Given the description of an element on the screen output the (x, y) to click on. 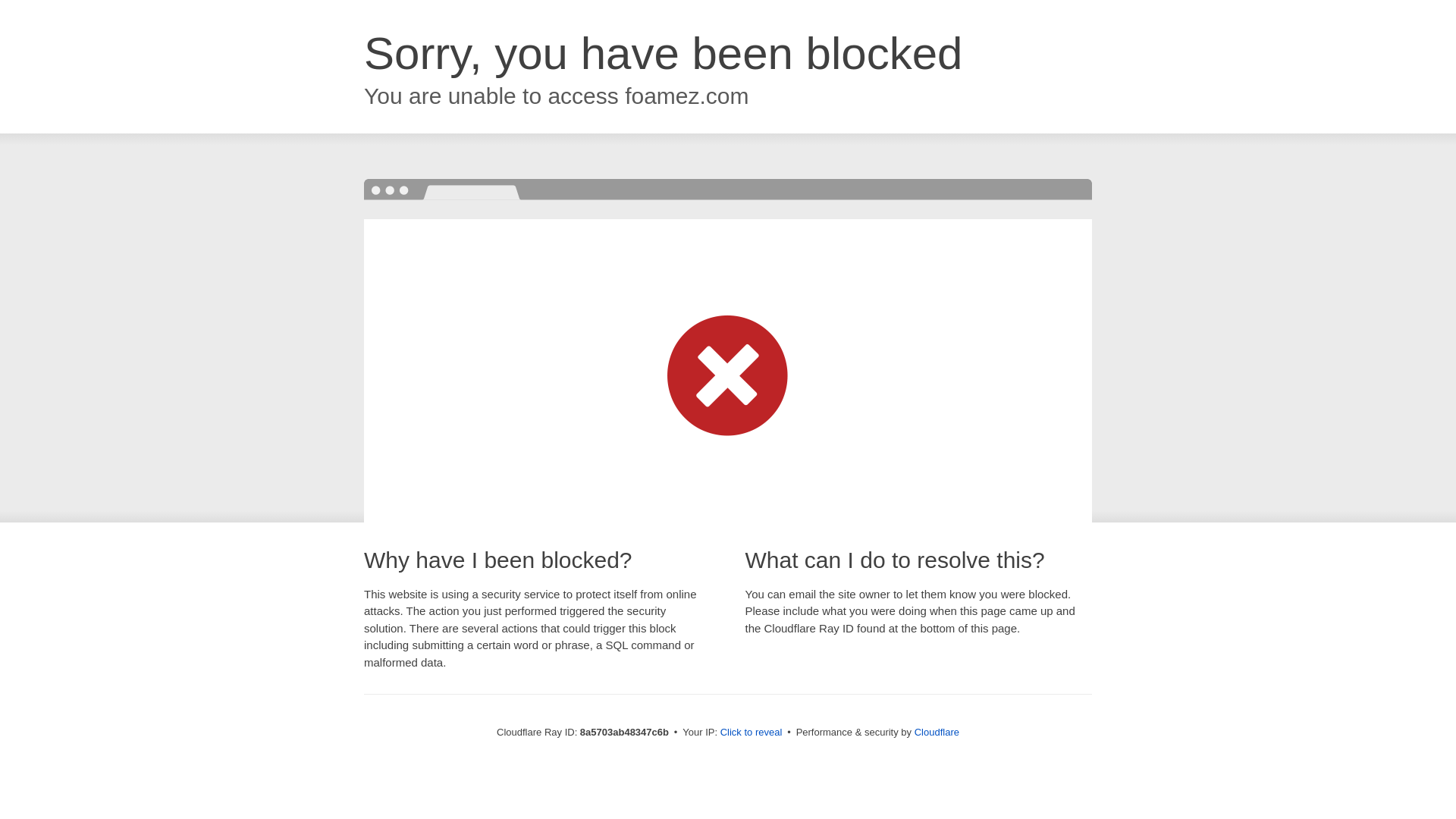
Cloudflare (936, 731)
Click to reveal (751, 732)
